Given the description of an element on the screen output the (x, y) to click on. 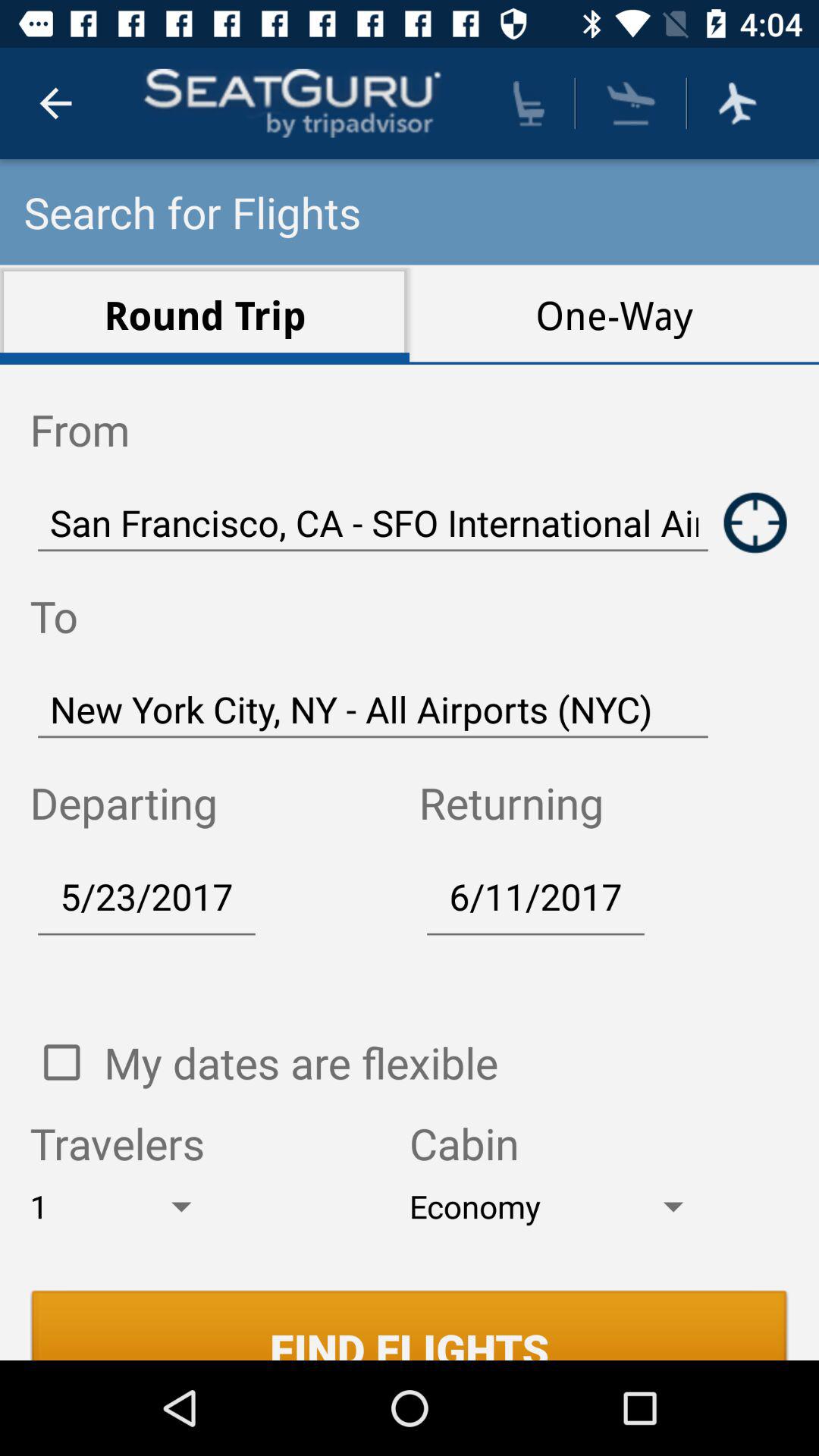
flight 's available (737, 103)
